Given the description of an element on the screen output the (x, y) to click on. 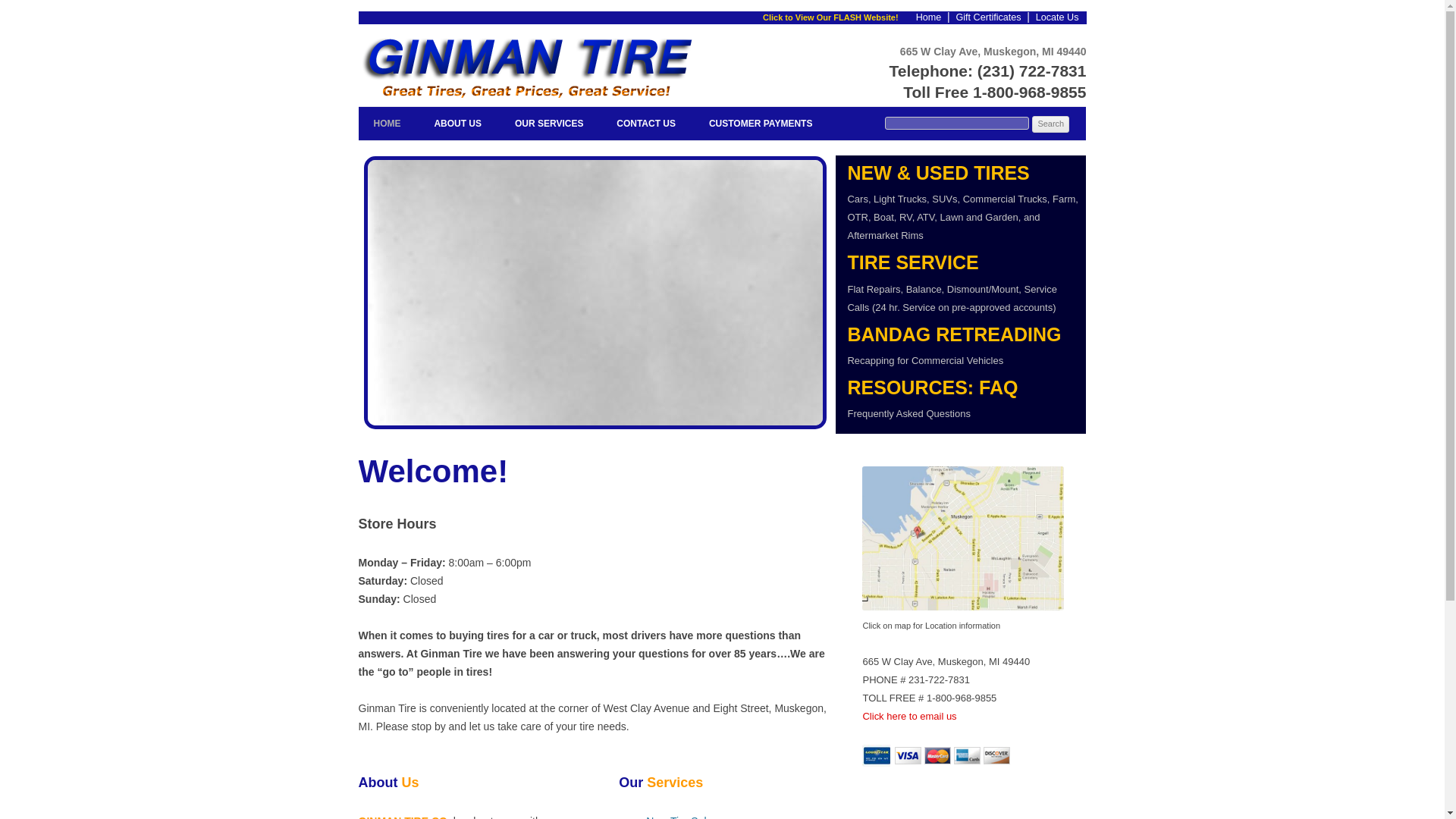
CUSTOMER PAYMENTS (760, 123)
New Tire Sales (681, 816)
ABOUT US (457, 123)
Search (1050, 124)
Skip to content (962, 402)
CONTACT US (829, 27)
OUR SERVICES (645, 123)
Gift Certificates (549, 123)
Ginman Tire (989, 17)
